Given the description of an element on the screen output the (x, y) to click on. 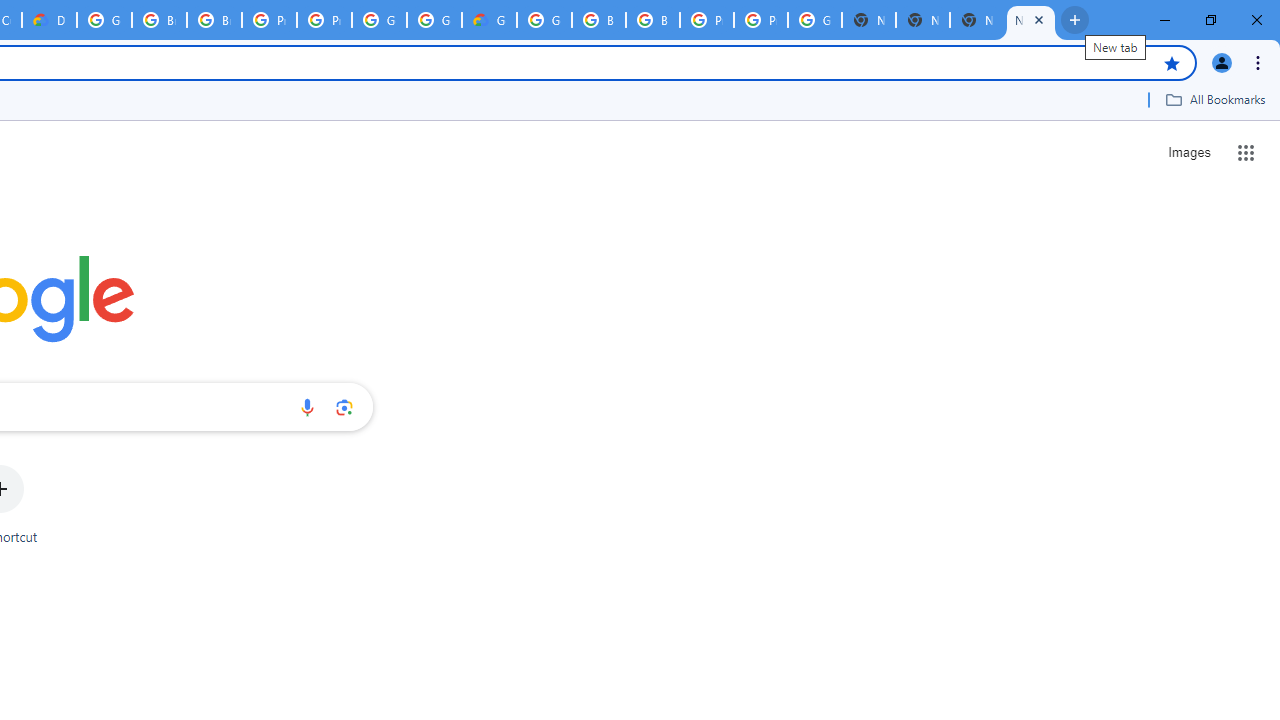
Google Cloud Estimate Summary (489, 20)
New Tab (1030, 20)
